Given the description of an element on the screen output the (x, y) to click on. 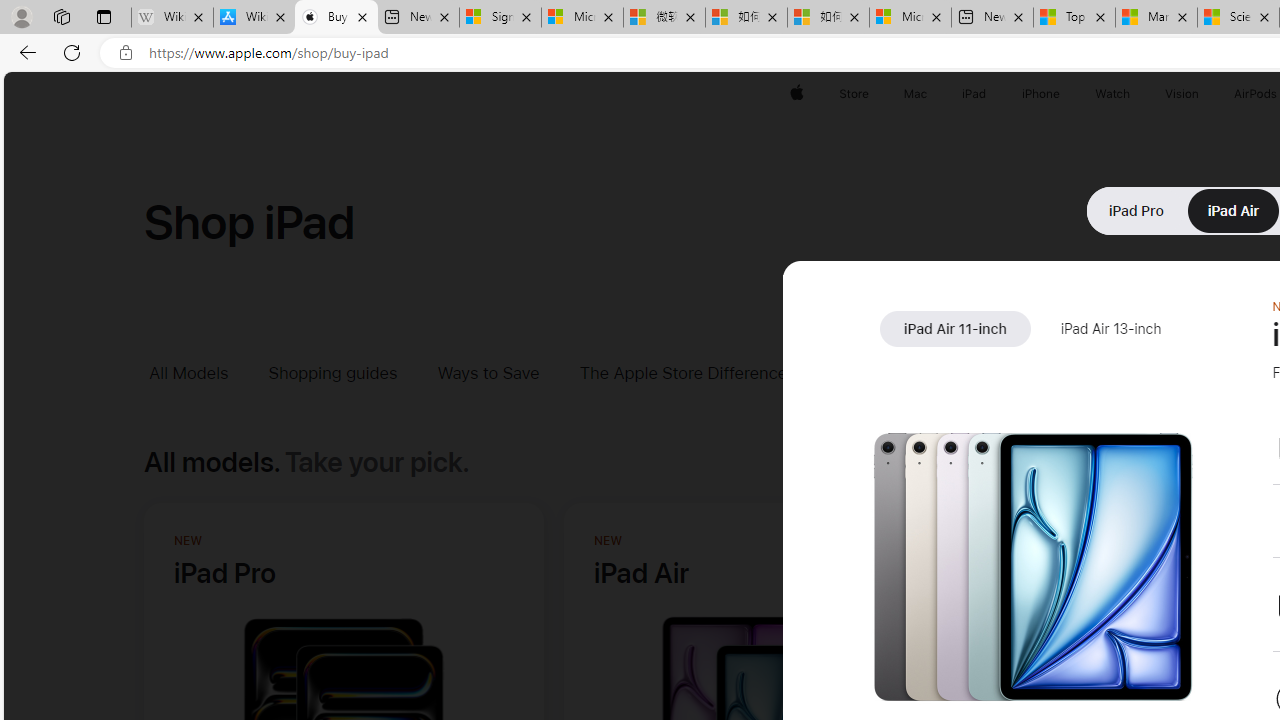
iPad Air 13-inch (1110, 329)
iPad Pro (1135, 210)
Next (1232, 548)
